Given the description of an element on the screen output the (x, y) to click on. 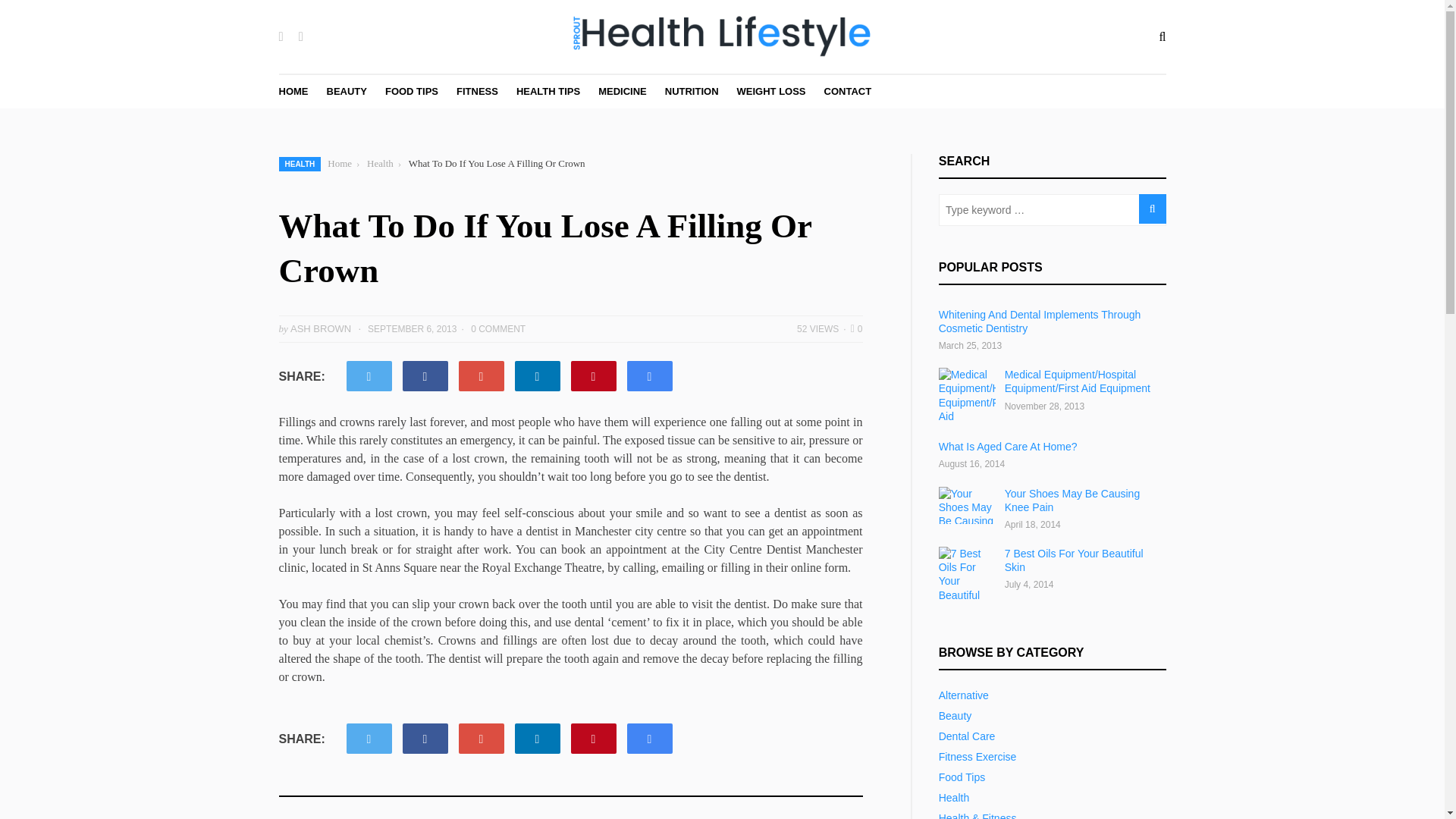
WEIGHT LOSS (771, 91)
HEALTH TIPS (547, 91)
0 (856, 328)
Home (339, 163)
FITNESS (477, 91)
Health (379, 163)
CONTACT (848, 91)
0 COMMENT (497, 328)
MEDICINE (622, 91)
Like this (856, 328)
